Given the description of an element on the screen output the (x, y) to click on. 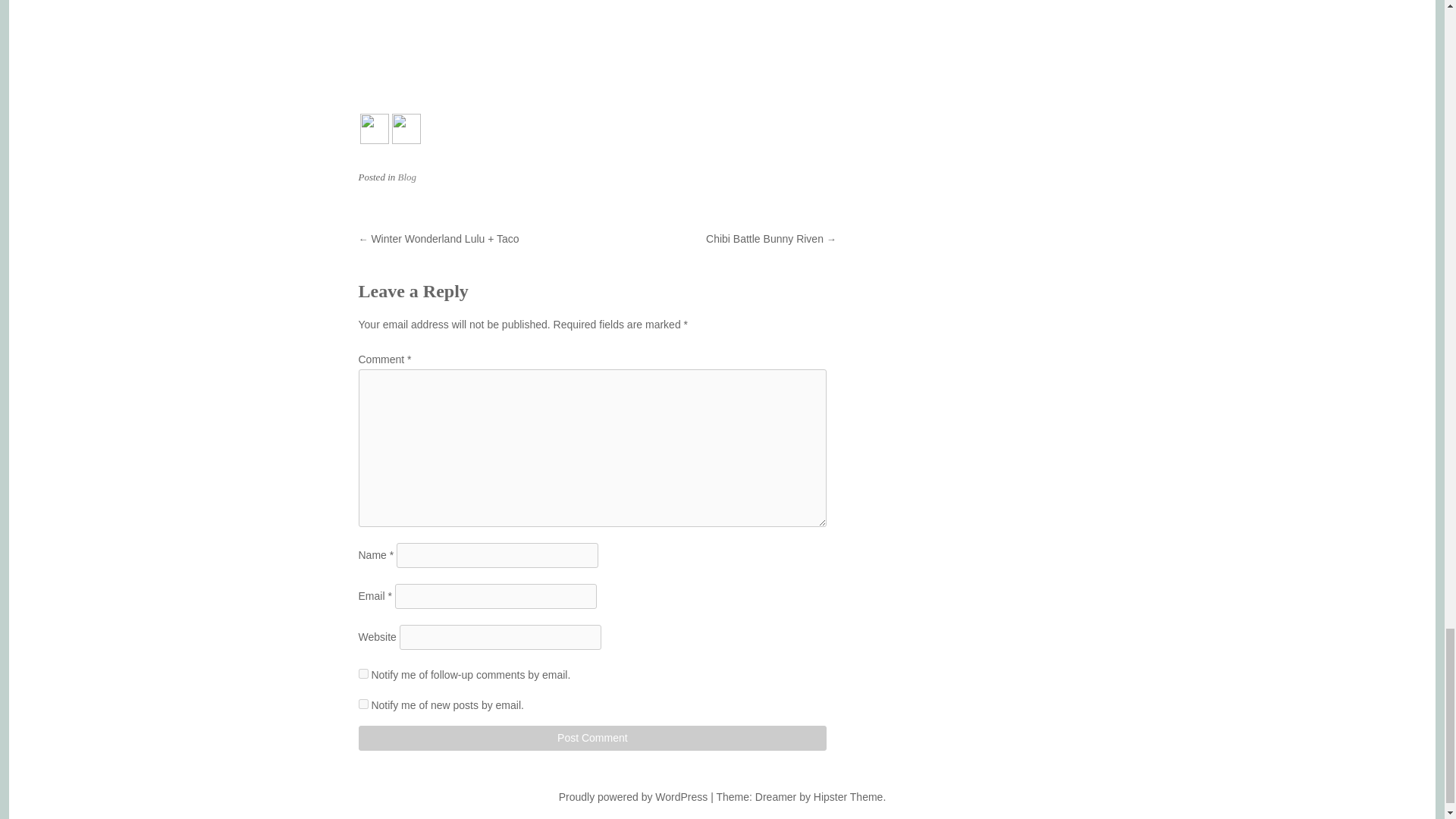
subscribe (363, 673)
Post Comment (592, 738)
Blog (406, 176)
Post Comment (592, 738)
Theme: Dreamer by Hipster Theme. (800, 797)
Proudly powered by WordPress (633, 797)
subscribe (363, 704)
